Given the description of an element on the screen output the (x, y) to click on. 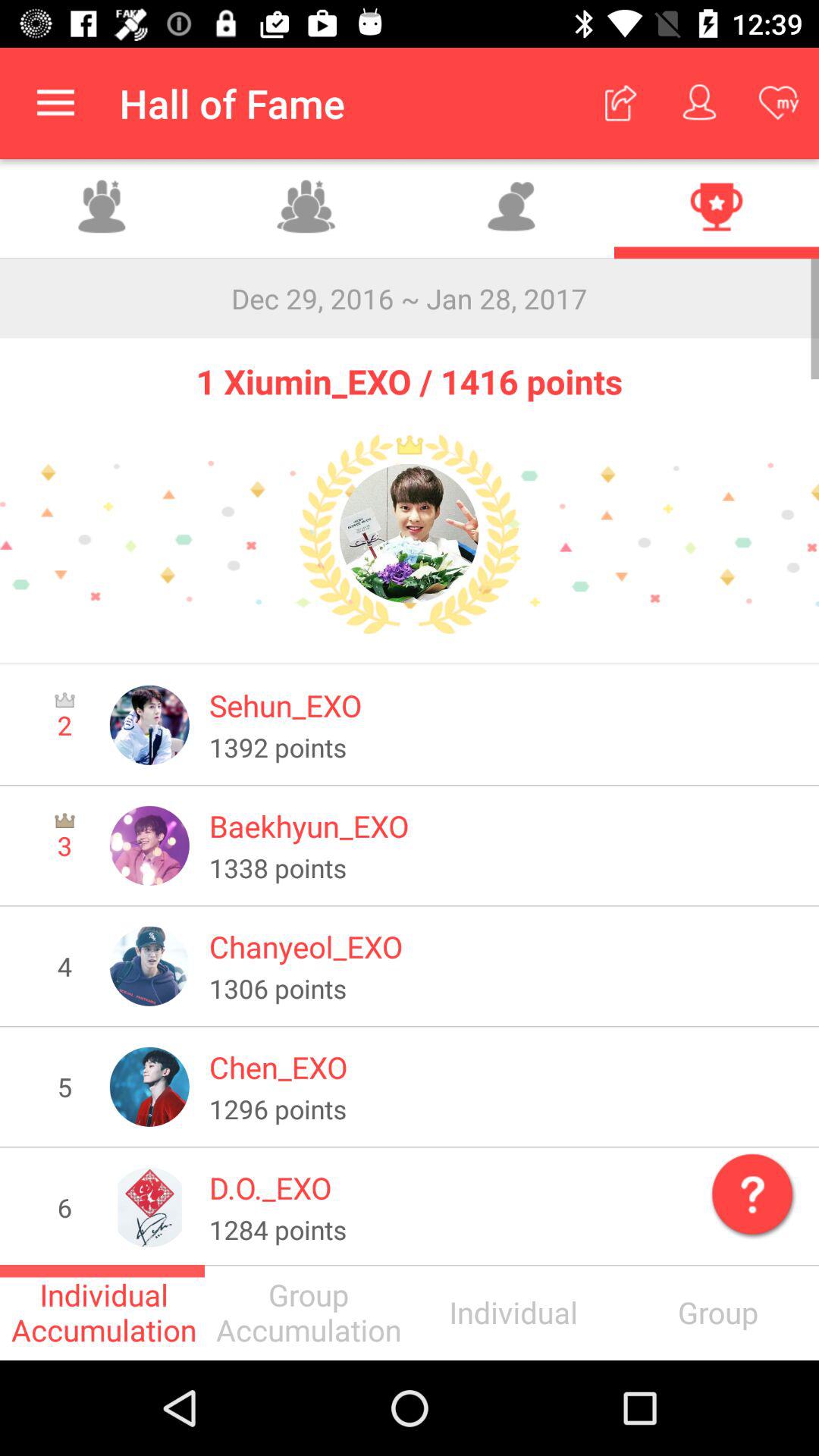
turn on item above dec 29 2016 item (716, 208)
